Given the description of an element on the screen output the (x, y) to click on. 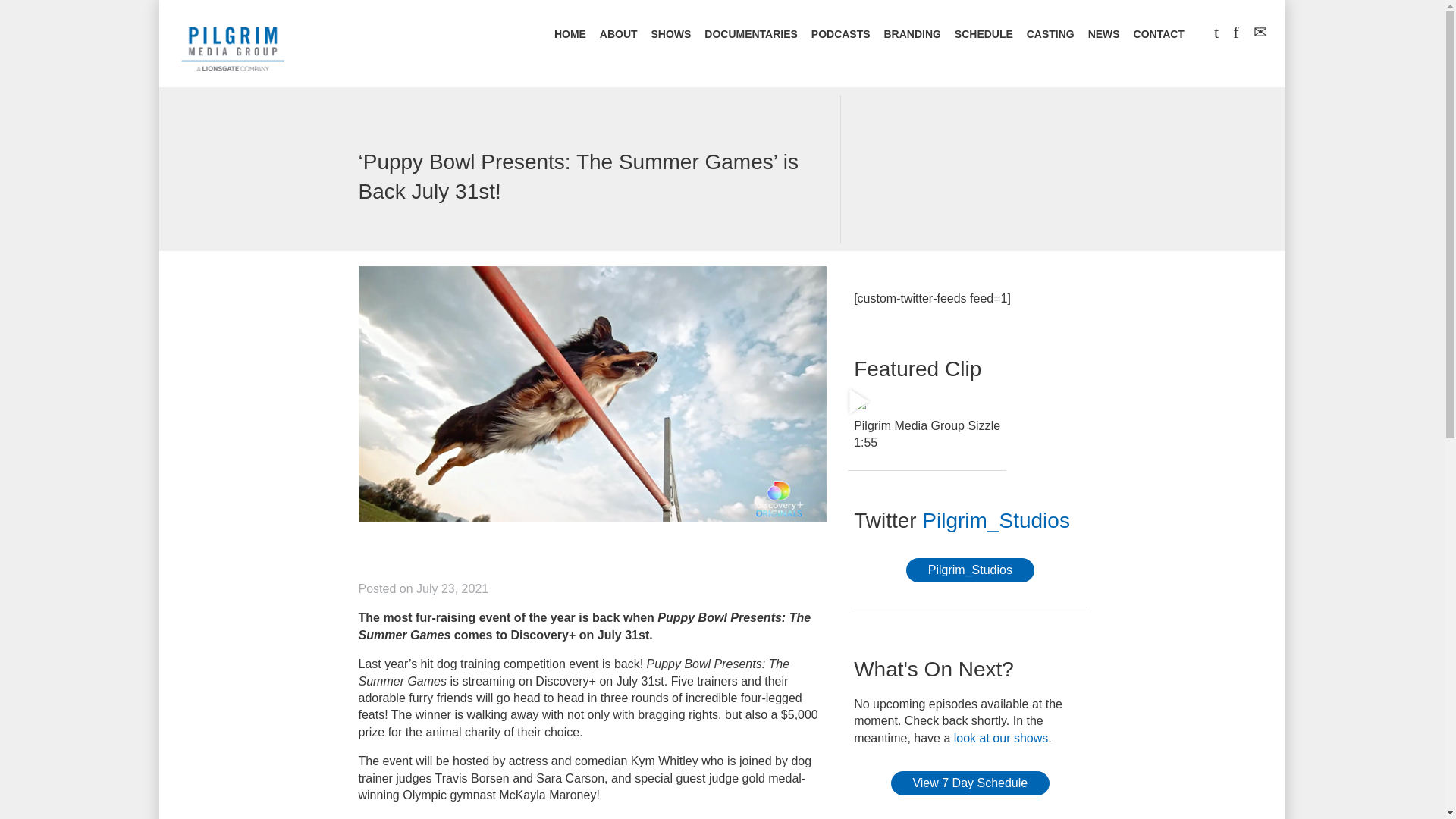
Pilgrim Media Group Sizzle (859, 402)
Pilgrim Media Group (232, 46)
Follow us on Twitter (995, 520)
CASTING (1050, 35)
View our shows (1000, 738)
SHOWS (670, 35)
PODCASTS (840, 35)
BRANDING (911, 35)
SCHEDULE (984, 35)
HOME (570, 35)
DOCUMENTARIES (750, 35)
NEWS (1103, 35)
look at our shows (1000, 738)
View 7 Day Schedule (970, 783)
